Given the description of an element on the screen output the (x, y) to click on. 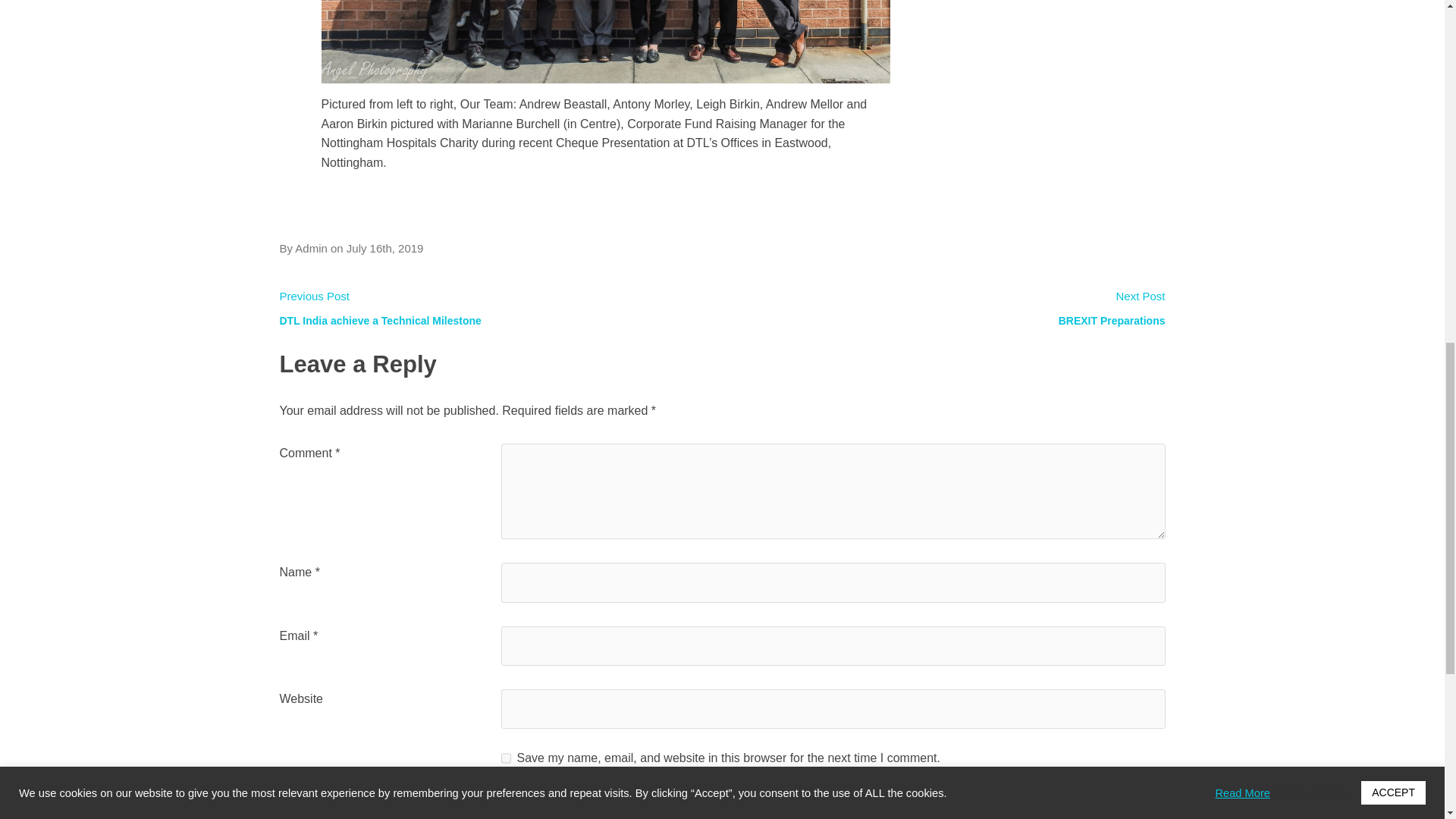
Post Comment (336, 807)
Posts by Admin (310, 247)
yes (505, 758)
